Given the description of an element on the screen output the (x, y) to click on. 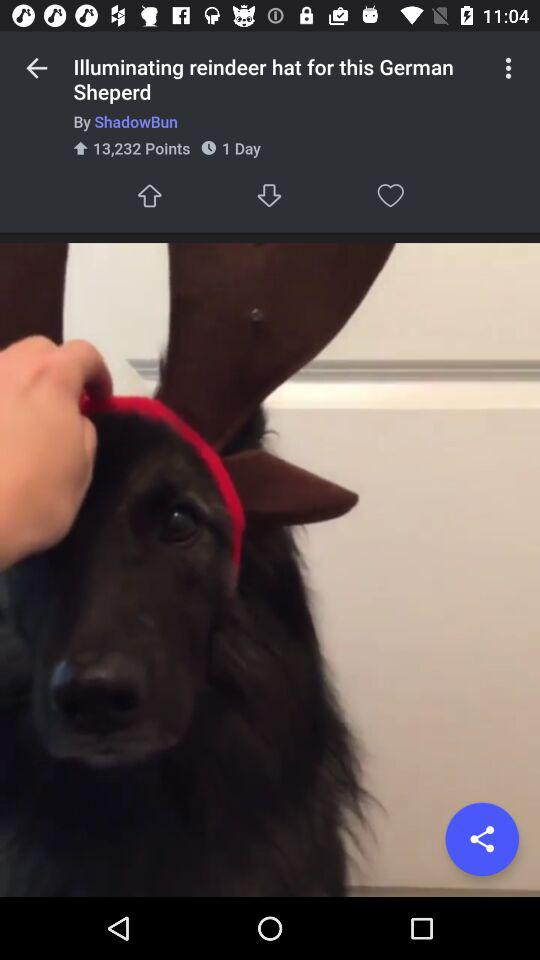
like this post (149, 195)
